Given the description of an element on the screen output the (x, y) to click on. 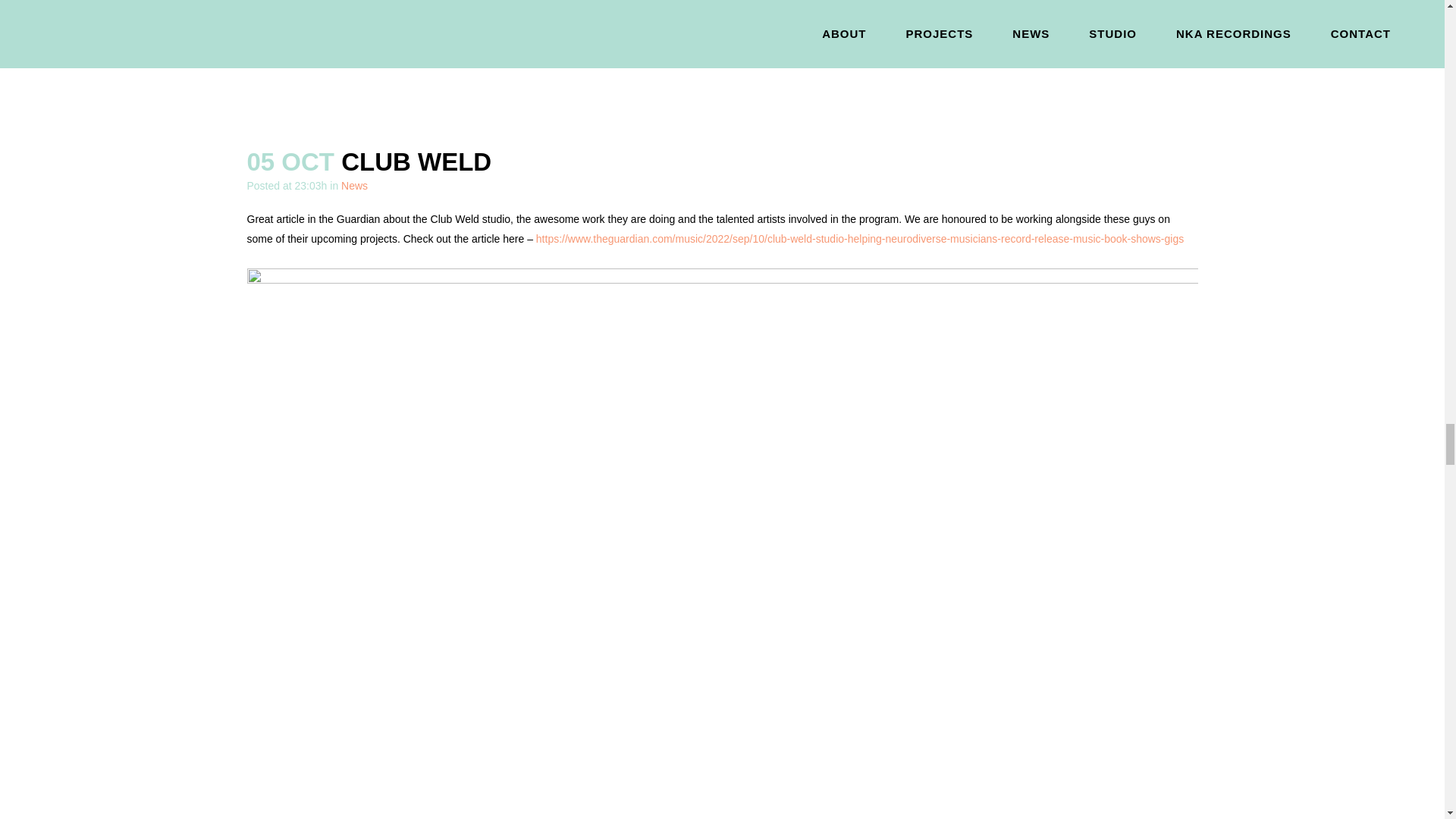
Club Weld (416, 162)
Club Weld (721, 65)
CLUB WELD (416, 162)
News (354, 185)
